Given the description of an element on the screen output the (x, y) to click on. 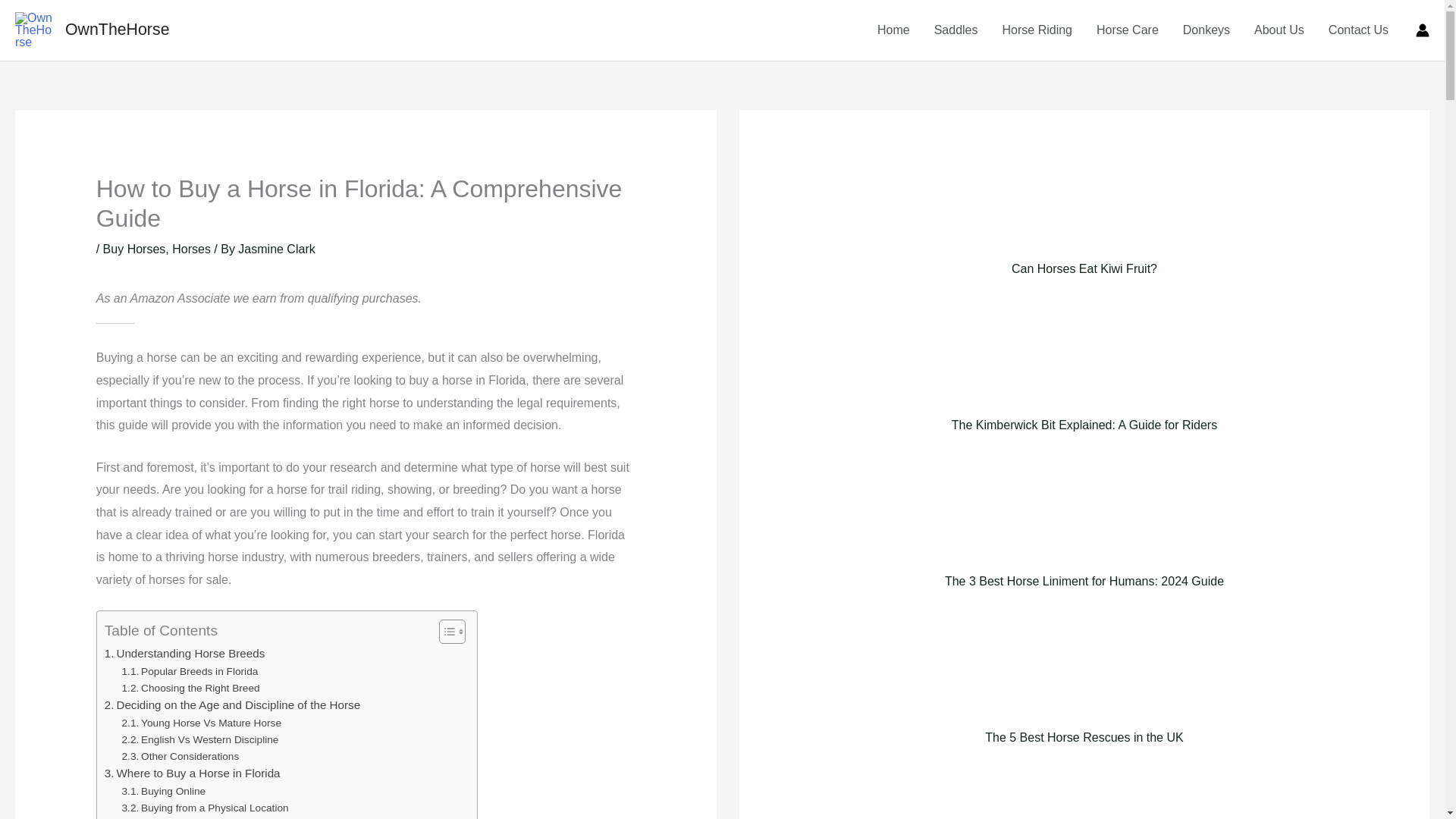
Buying from a Physical Location (205, 808)
OwnTheHorse (117, 29)
Price and Other Considerations (191, 817)
Jasmine Clark (276, 248)
Buying from a Physical Location (205, 808)
Where to Buy a Horse in Florida (192, 773)
English Vs Western Discipline (200, 740)
Popular Breeds in Florida (190, 671)
Deciding on the Age and Discipline of the Horse (231, 705)
Contact Us (1358, 30)
